Given the description of an element on the screen output the (x, y) to click on. 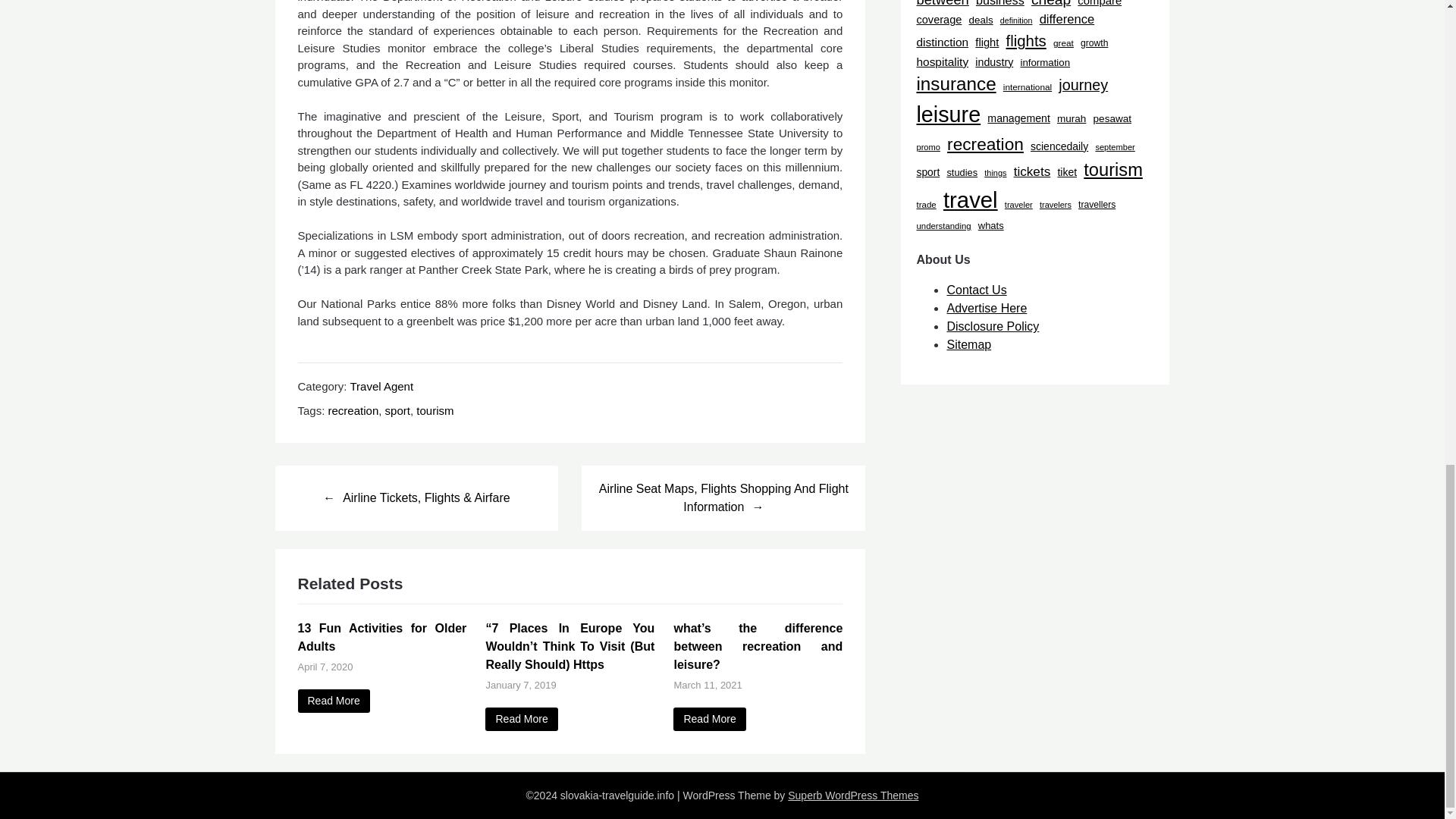
recreation (353, 410)
Travel Agent (381, 386)
13 Fun Activities for Older Adults (333, 700)
Airline Seat Maps, Flights Shopping And Flight Information (722, 498)
tourism (434, 410)
sport (397, 410)
